Given the description of an element on the screen output the (x, y) to click on. 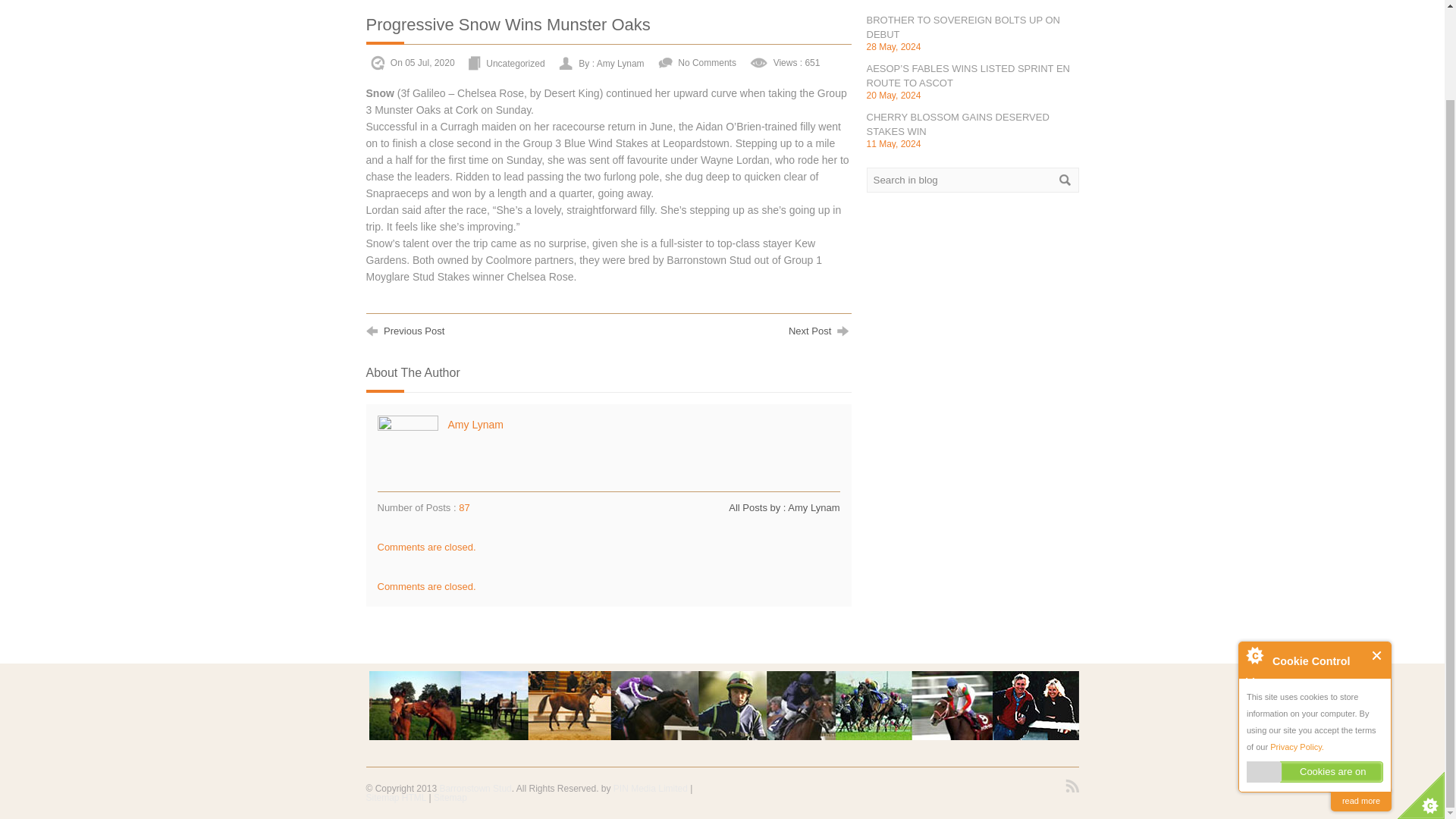
Search in blog (972, 179)
Barronstown Stud (475, 787)
Sitemap HTML (395, 797)
Previous Post (404, 328)
Sitemap (450, 797)
read more (1360, 698)
Uncategorized (515, 62)
PIN Media Limited (649, 787)
Search in blog (972, 179)
Next Post  (820, 328)
Privacy Policy. (1296, 644)
sitemap (395, 797)
Cookies are on (1314, 670)
CHERRY BLOSSOM GAINS DESERVED STAKES WIN (957, 124)
BROTHER TO SOVEREIGN BOLTS UP ON DEBUT (962, 27)
